Given the description of an element on the screen output the (x, y) to click on. 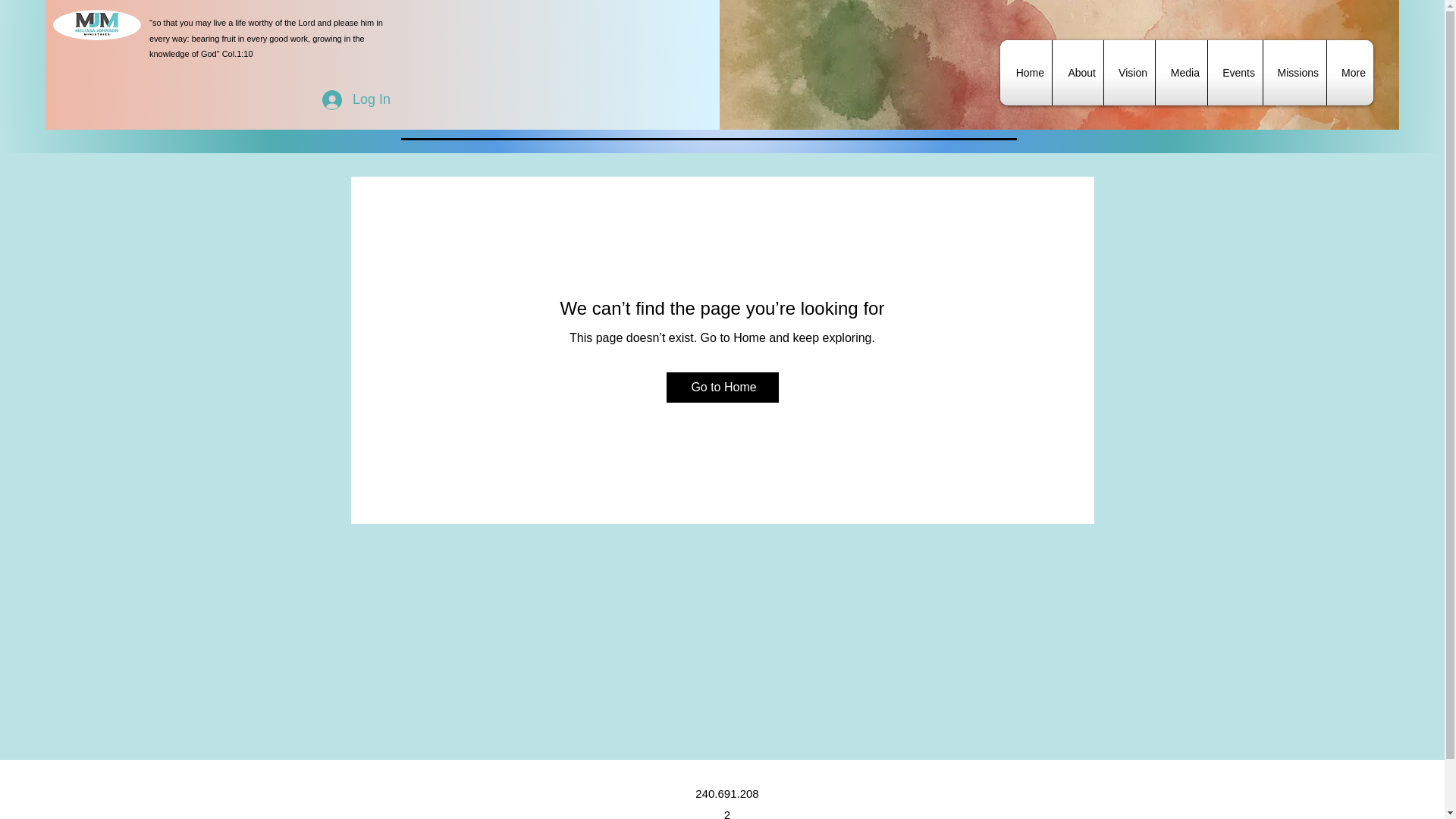
Go to Home (721, 387)
Missions (1294, 72)
Log In (356, 100)
